Given the description of an element on the screen output the (x, y) to click on. 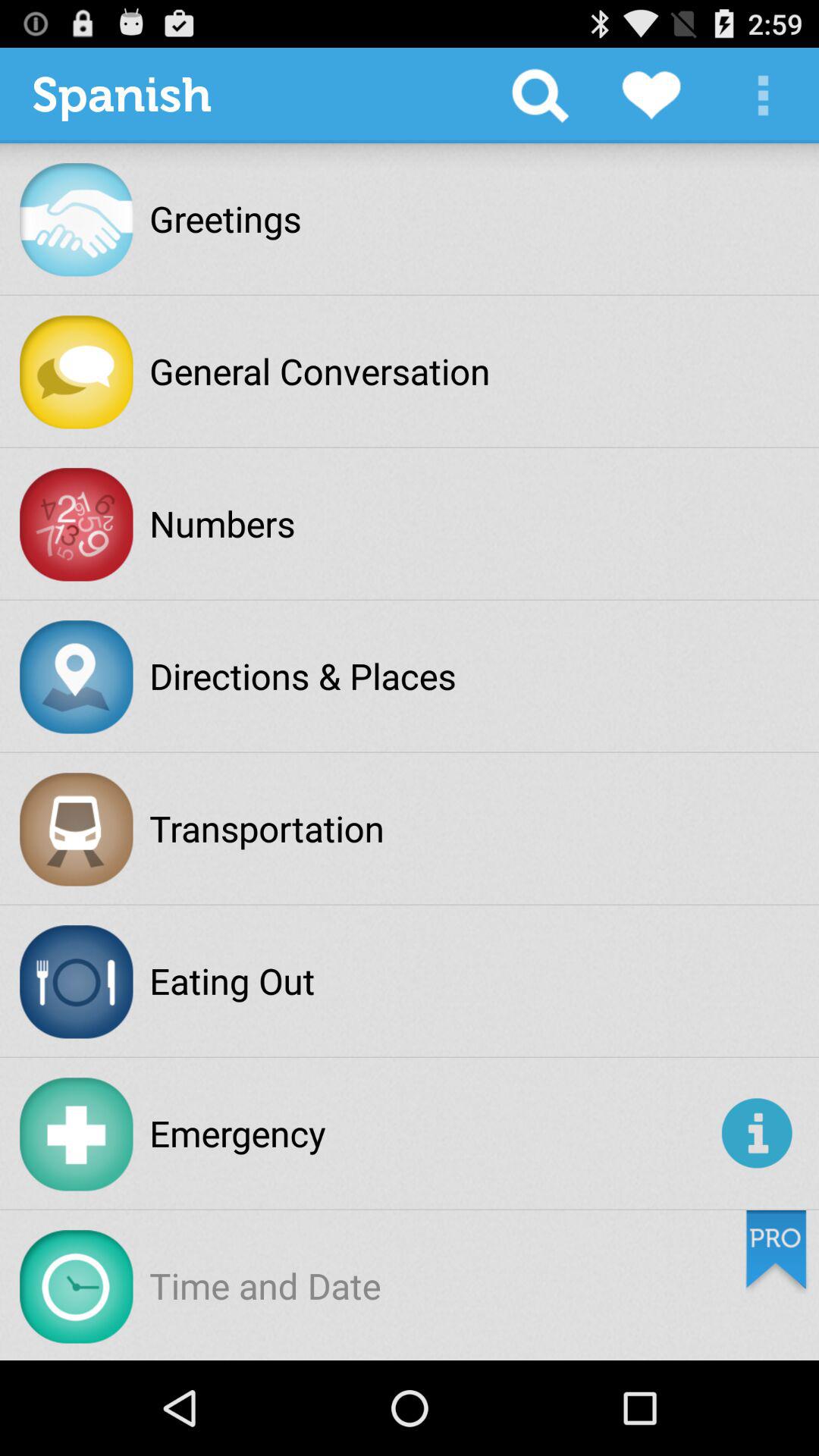
jump until directions & places app (302, 675)
